Given the description of an element on the screen output the (x, y) to click on. 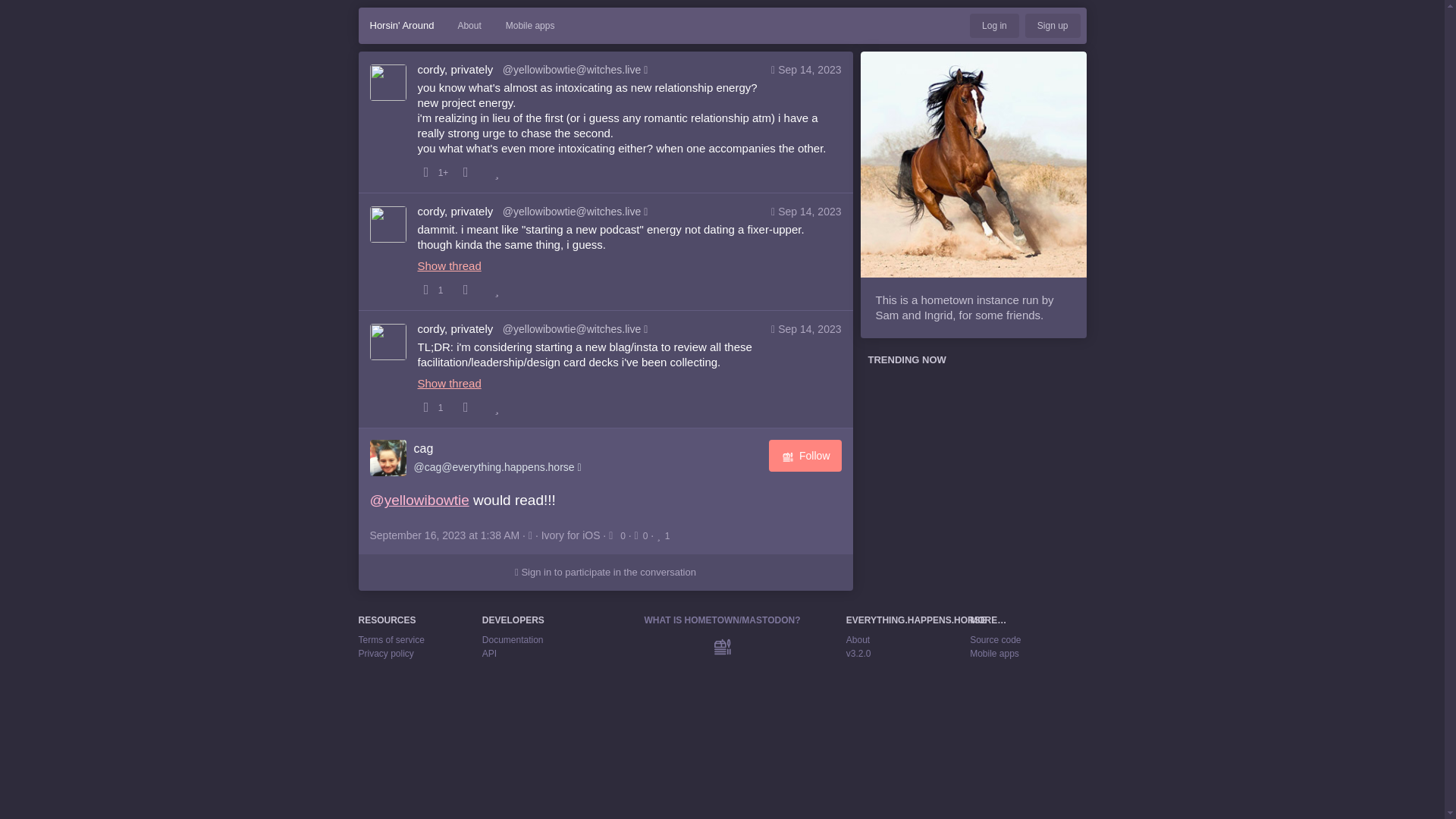
Sign up (1052, 25)
Log in (994, 25)
September 14, 2023 at 3:00 AM (809, 328)
Horsin' Around (401, 25)
September 16, 2023 at 1:38 AM (445, 535)
September 14, 2023 at 1:23 AM (809, 69)
Sep 14, 2023 (809, 328)
0 (642, 535)
Mobile apps (994, 653)
September 14, 2023 at 2:35 AM (809, 211)
Sep 14, 2023 (809, 211)
0 (618, 535)
Ivory for iOS (570, 535)
Show thread (628, 380)
API (488, 653)
